Given the description of an element on the screen output the (x, y) to click on. 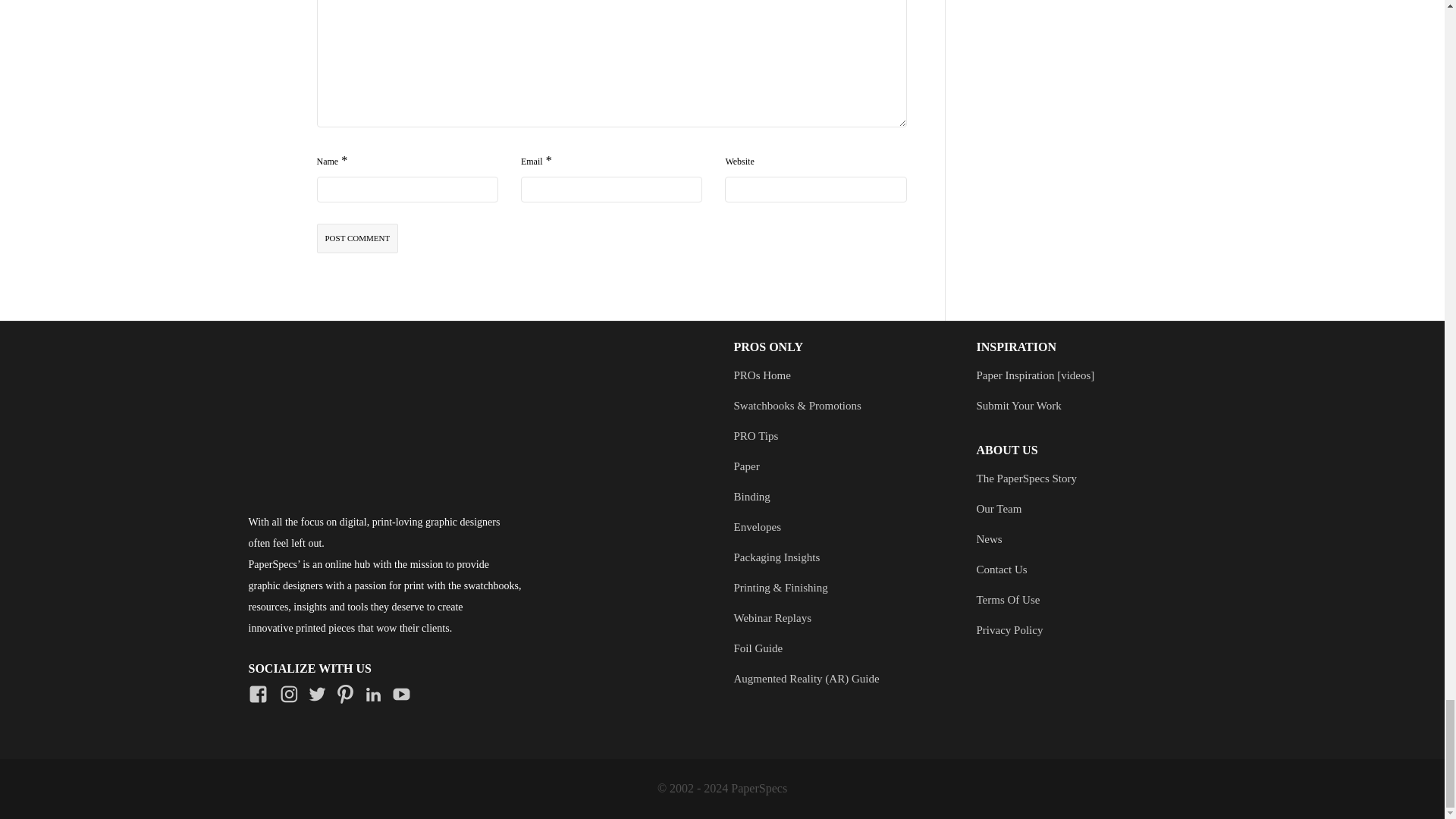
Post comment (357, 238)
